Given the description of an element on the screen output the (x, y) to click on. 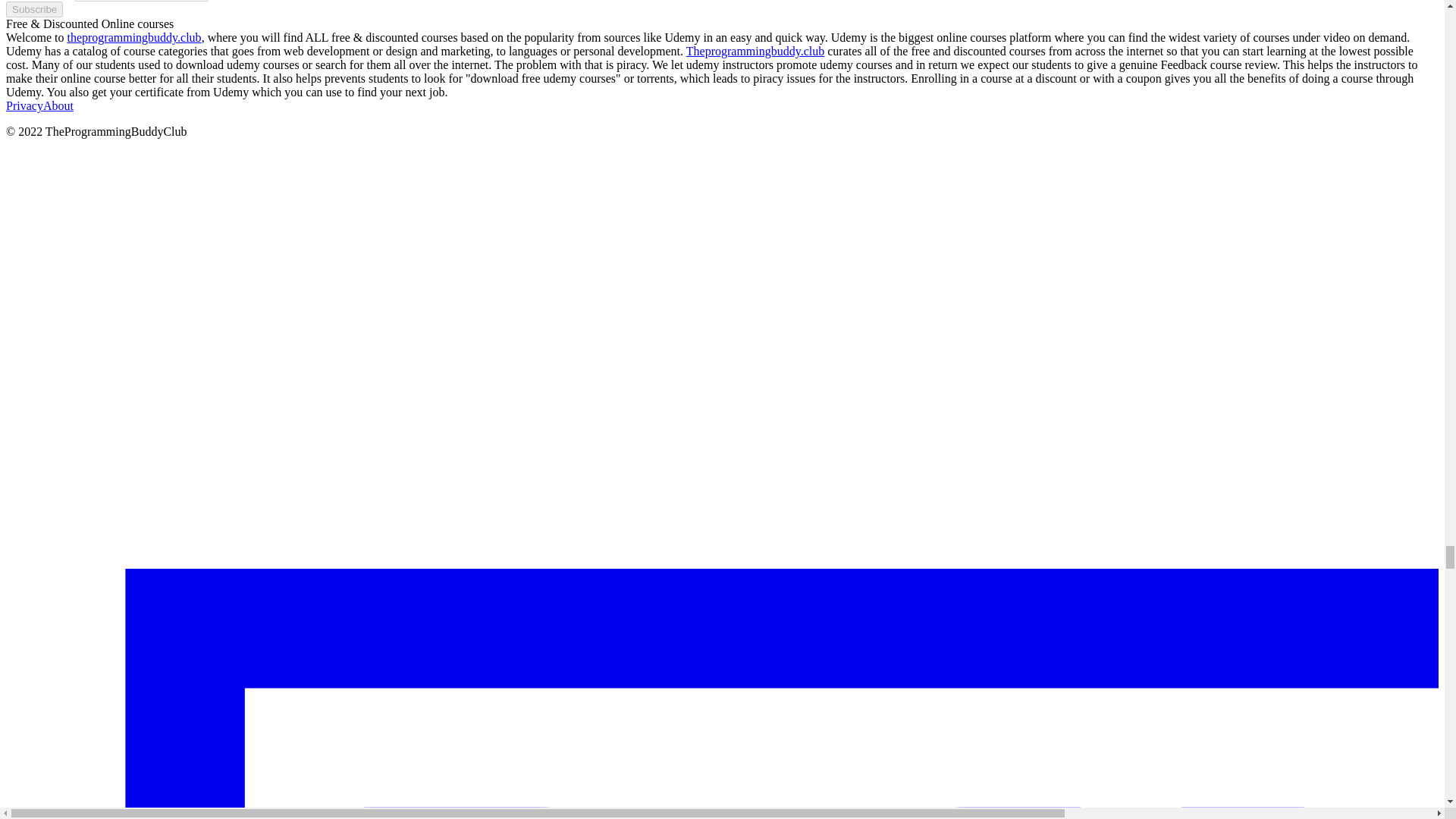
Subscribe (33, 9)
Subscribe (33, 9)
Theprogrammingbuddy.club (754, 51)
About (58, 105)
theprogrammingbuddy.club (133, 37)
Privacy (24, 105)
